Given the description of an element on the screen output the (x, y) to click on. 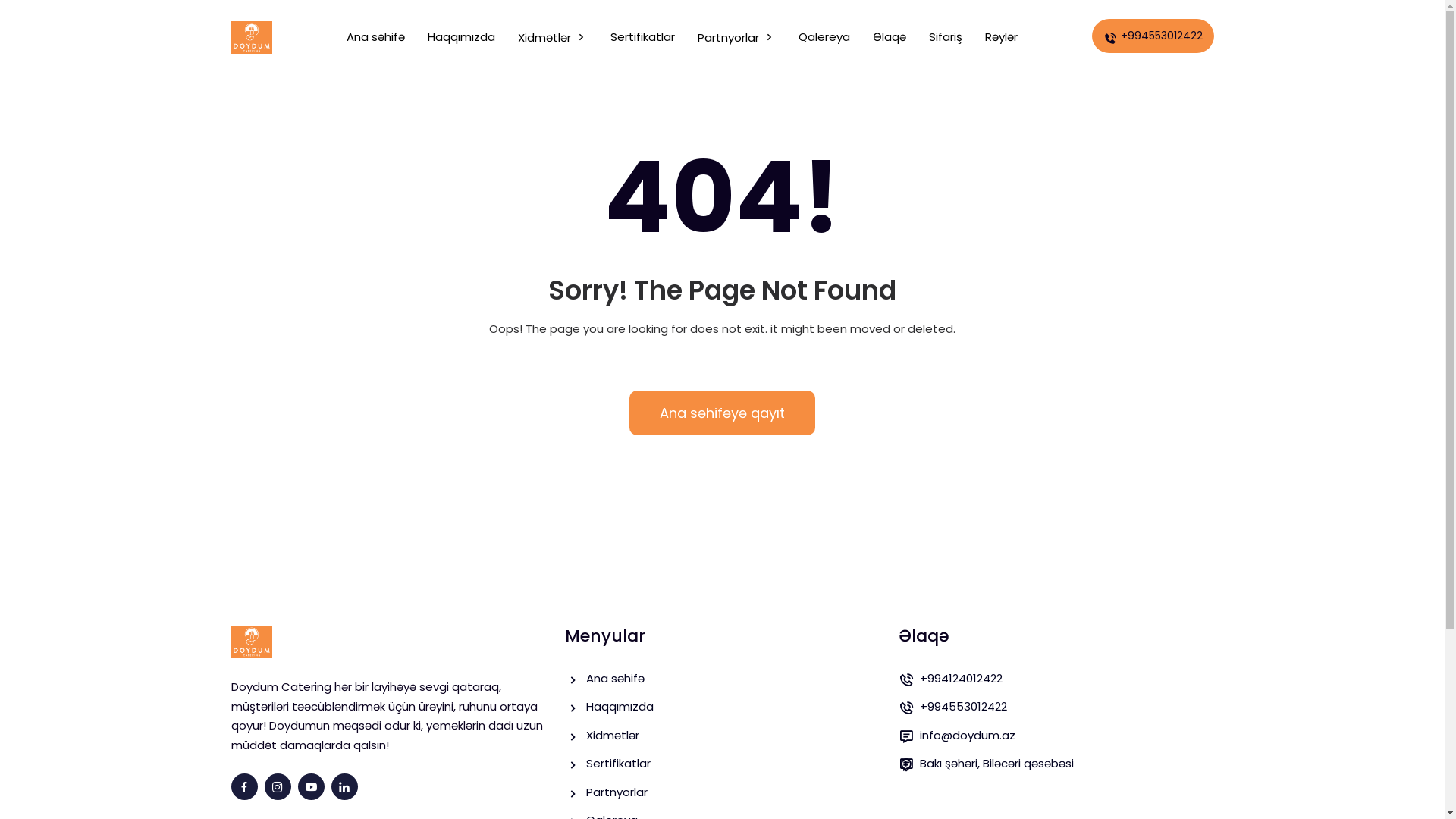
Partnyorlar Element type: text (736, 37)
+994553012422 Element type: text (1066, 706)
Qalereya Element type: text (824, 37)
+994553012422 Element type: text (1153, 35)
Partnyorlar Element type: text (732, 792)
+994124012422 Element type: text (1066, 678)
info@doydum.az Element type: text (1066, 735)
Sertifikatlar Element type: text (642, 37)
Sertifikatlar Element type: text (732, 763)
